Given the description of an element on the screen output the (x, y) to click on. 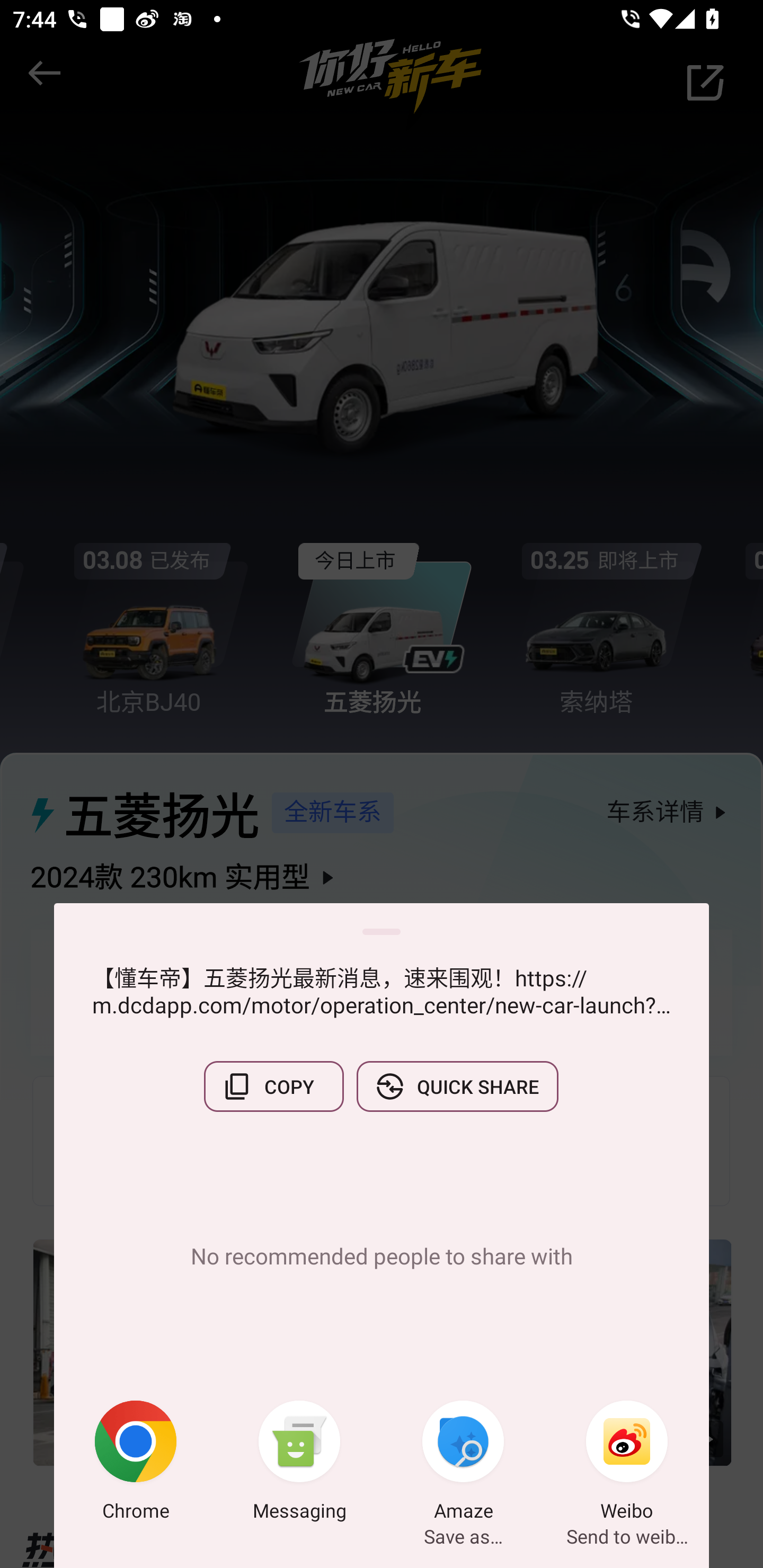
COPY (273, 1086)
QUICK SHARE (457, 1086)
Chrome (135, 1463)
Messaging (299, 1463)
Amaze Save as… (463, 1463)
Weibo Send to weibo friends (626, 1463)
